Given the description of an element on the screen output the (x, y) to click on. 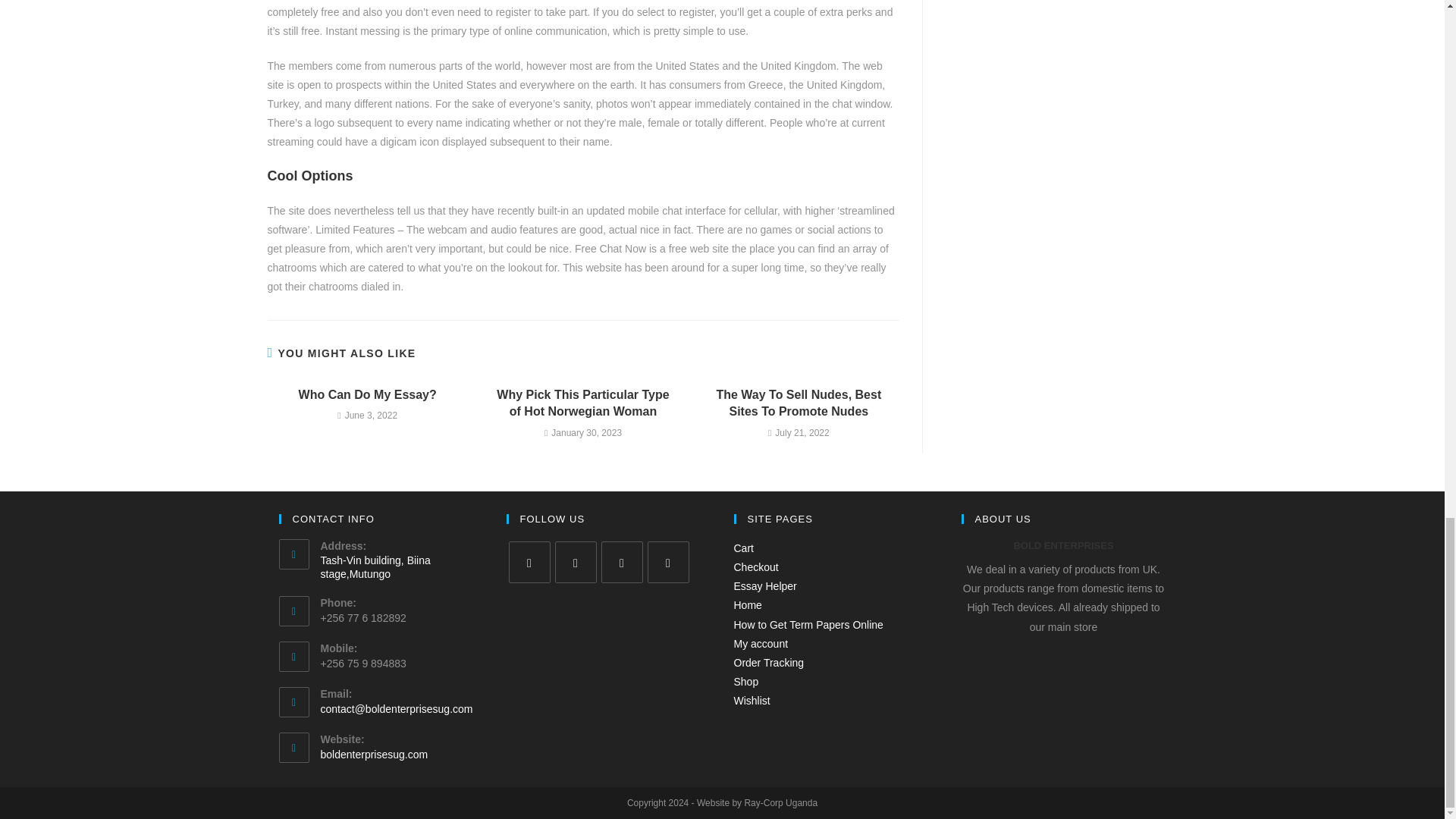
Facebook (575, 562)
Who Can Do My Essay? (367, 394)
Youtube (667, 562)
Who Can Do My Essay? (367, 394)
The Way To Sell Nudes, Best Sites To Promote Nudes (798, 403)
Instagram (620, 562)
Why Pick This Particular Type of Hot Norwegian Woman (583, 403)
Twitter (529, 562)
Why Pick This Particular Type of Hot Norwegian Woman (583, 403)
The Way To Sell Nudes, Best Sites To Promote Nudes (798, 403)
